Given the description of an element on the screen output the (x, y) to click on. 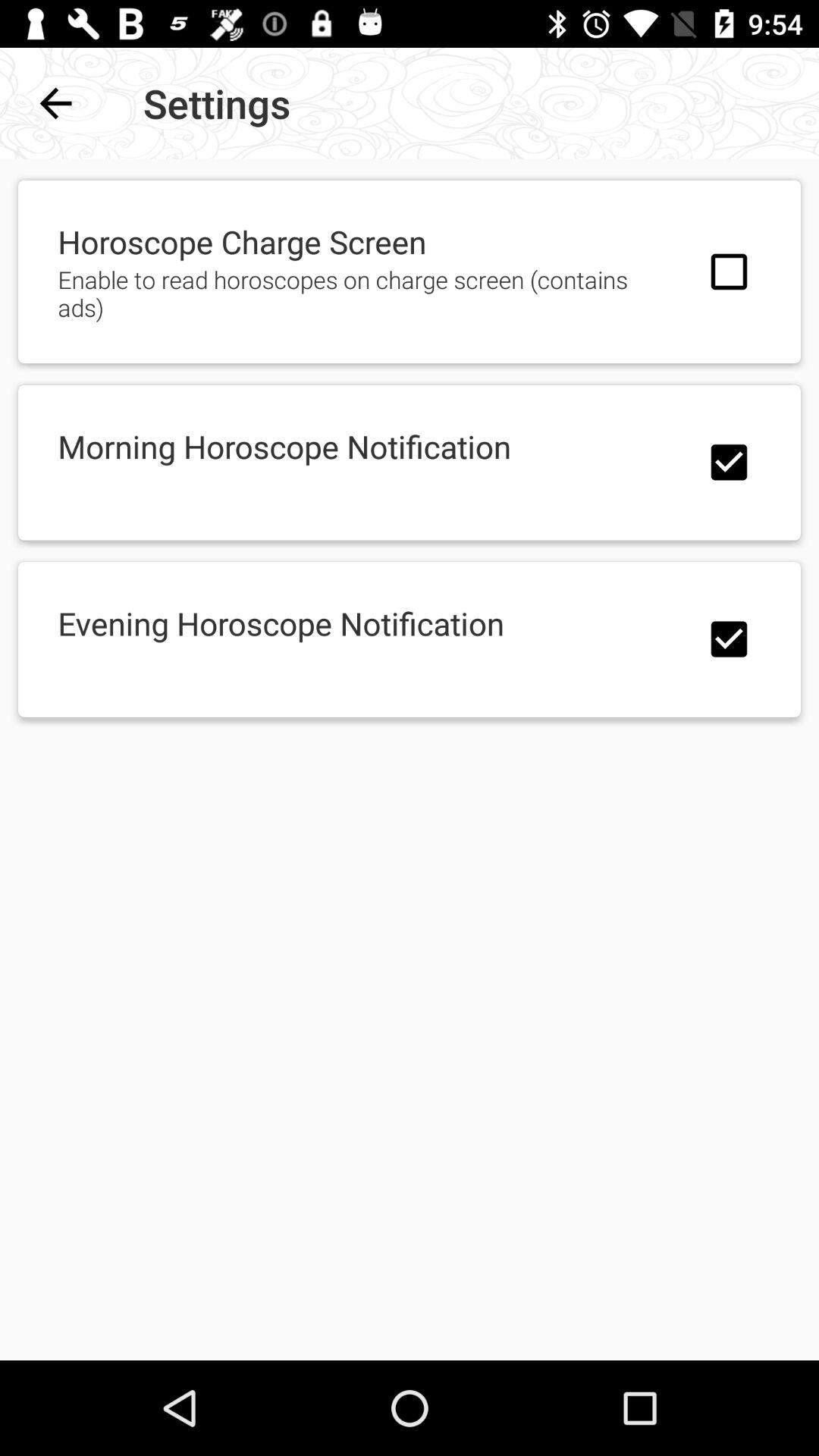
select the item to the left of settings item (55, 103)
